Given the description of an element on the screen output the (x, y) to click on. 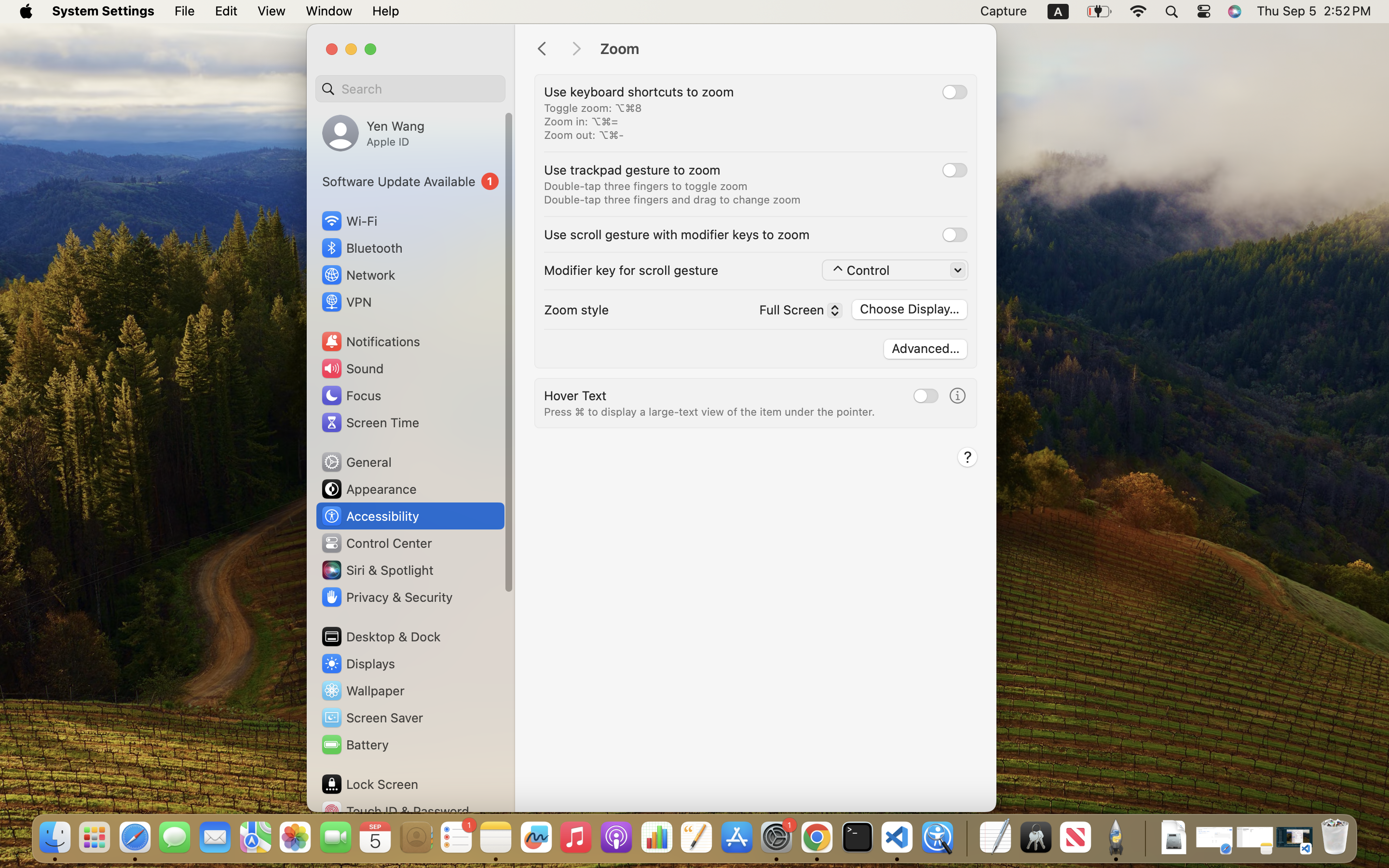
Network Element type: AXStaticText (357, 274)
Wi‑Fi Element type: AXStaticText (348, 220)
Modifier key for scroll gesture Element type: AXStaticText (631, 269)
Privacy & Security Element type: AXStaticText (386, 596)
Displays Element type: AXStaticText (357, 663)
